Given the description of an element on the screen output the (x, y) to click on. 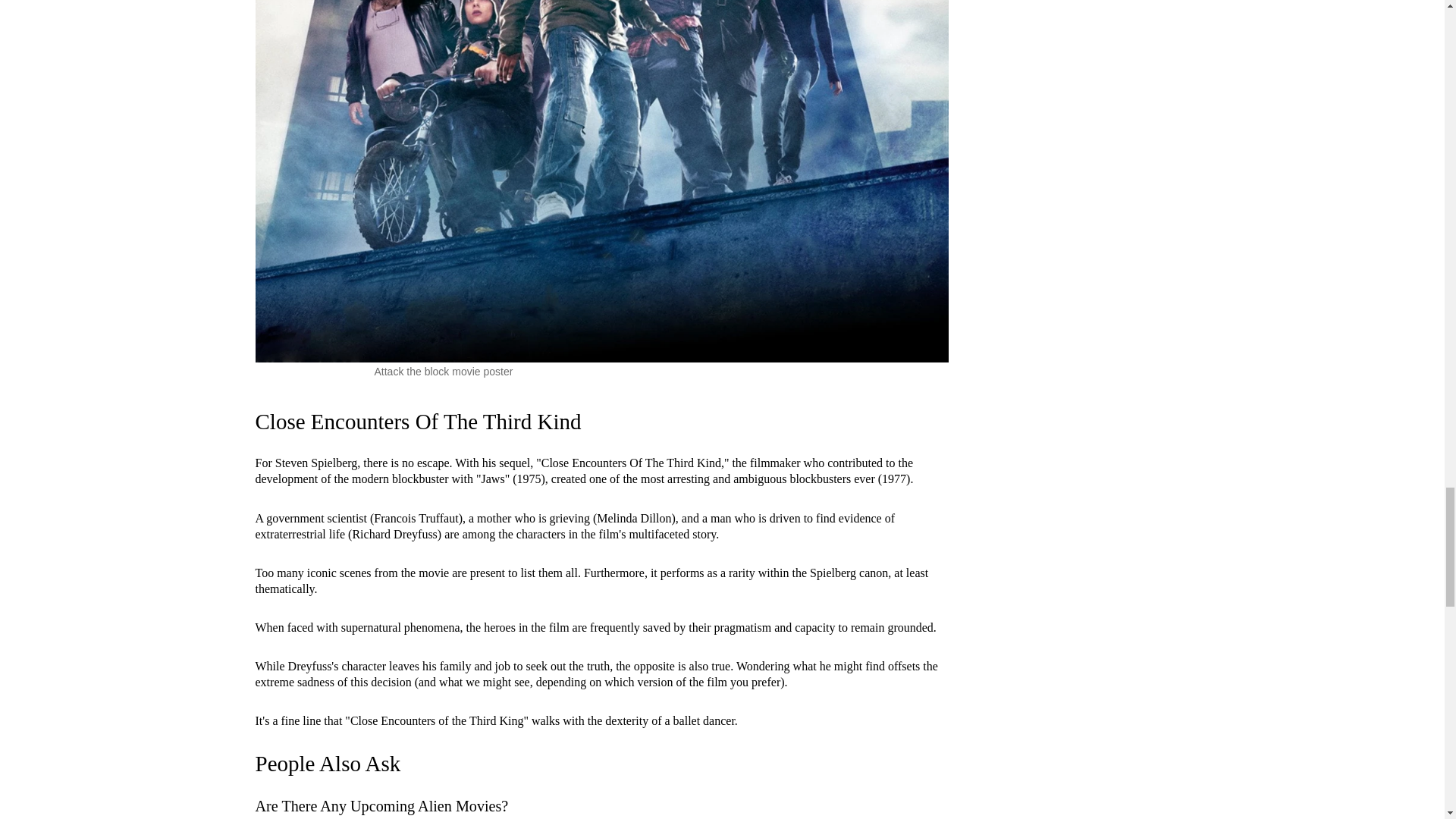
Close Encounters Of The Third Kind (417, 421)
People Also Ask (327, 763)
Are There Any Upcoming Alien Movies? (381, 805)
People Also Ask (327, 763)
Are There Any Upcoming Alien Movies? (381, 805)
Close Encounters Of The Third Kind (417, 421)
